Given the description of an element on the screen output the (x, y) to click on. 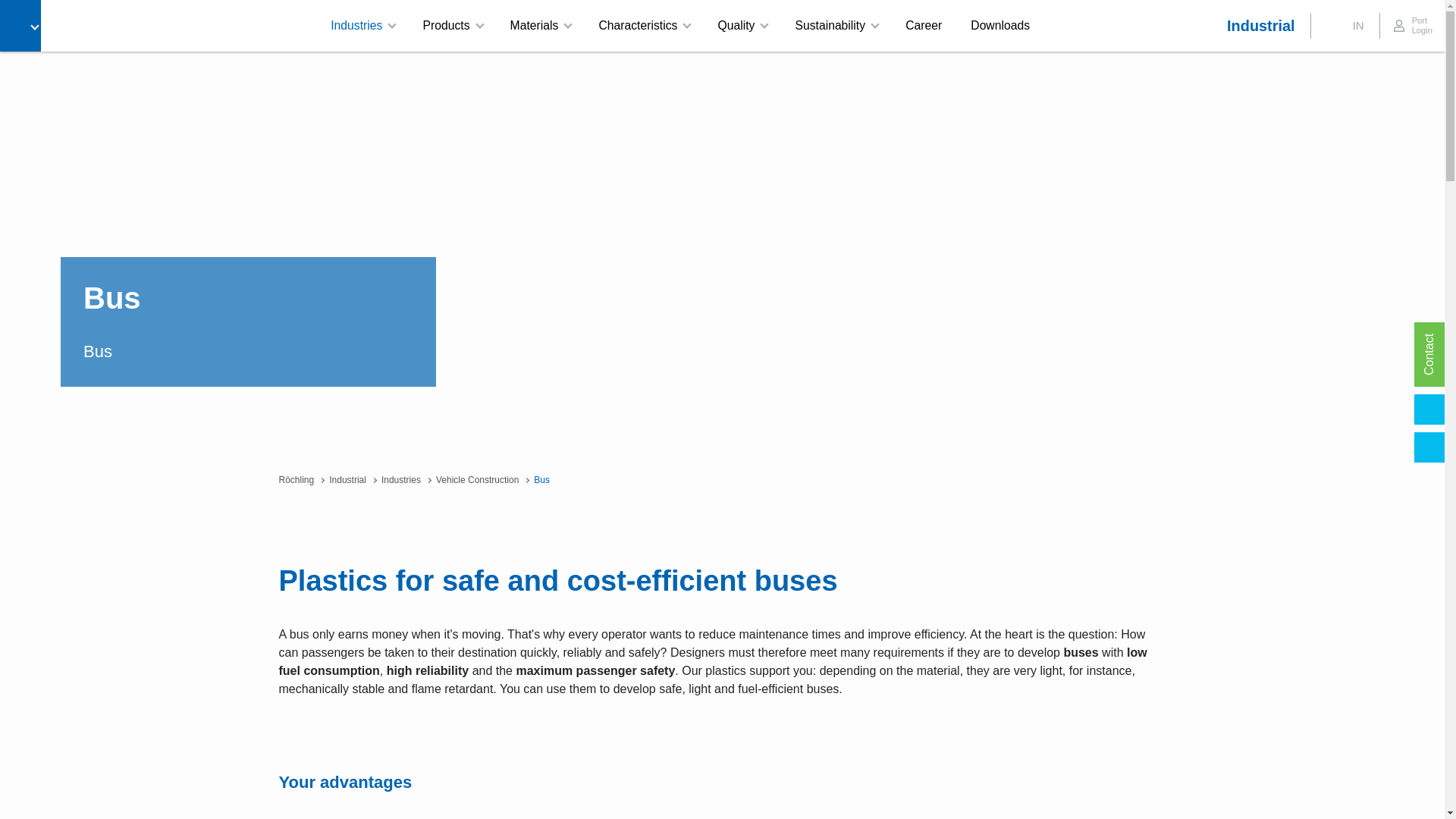
Industries (361, 25)
Industries (361, 25)
Products (451, 25)
